Given the description of an element on the screen output the (x, y) to click on. 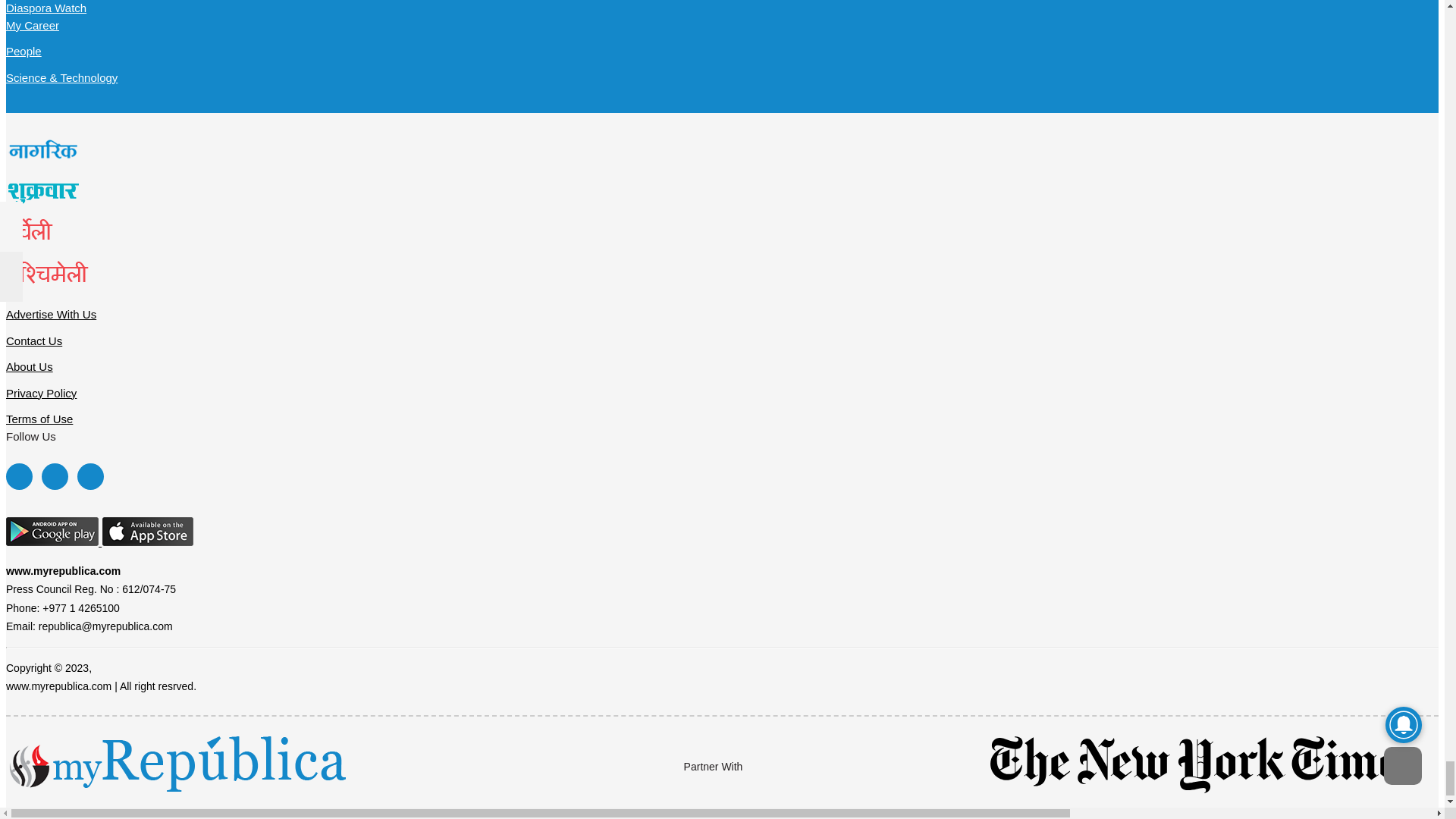
Facebook (18, 476)
Twitter (55, 476)
Youtube (90, 476)
